Given the description of an element on the screen output the (x, y) to click on. 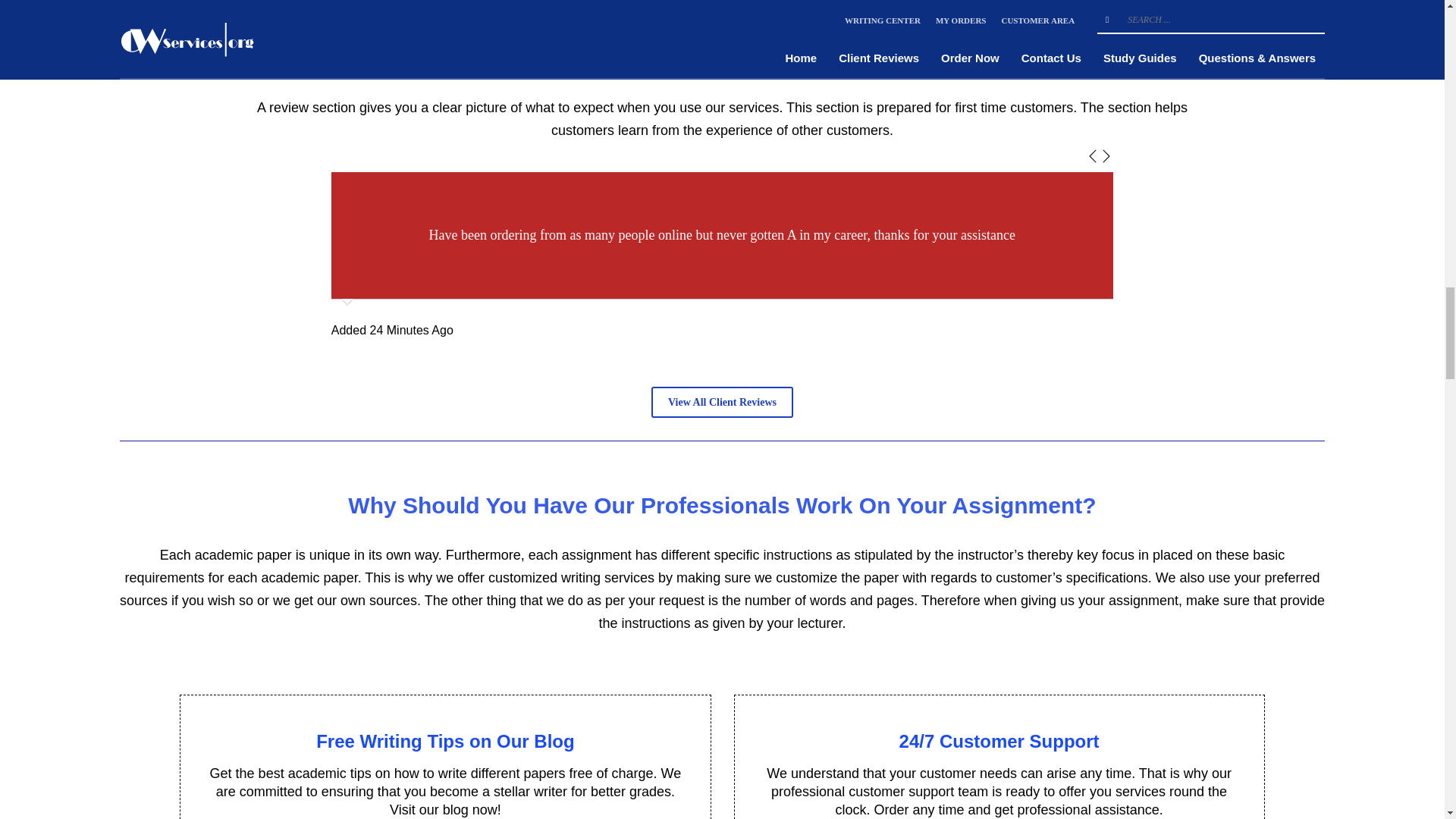
View All Client Reviews (721, 401)
